Given the description of an element on the screen output the (x, y) to click on. 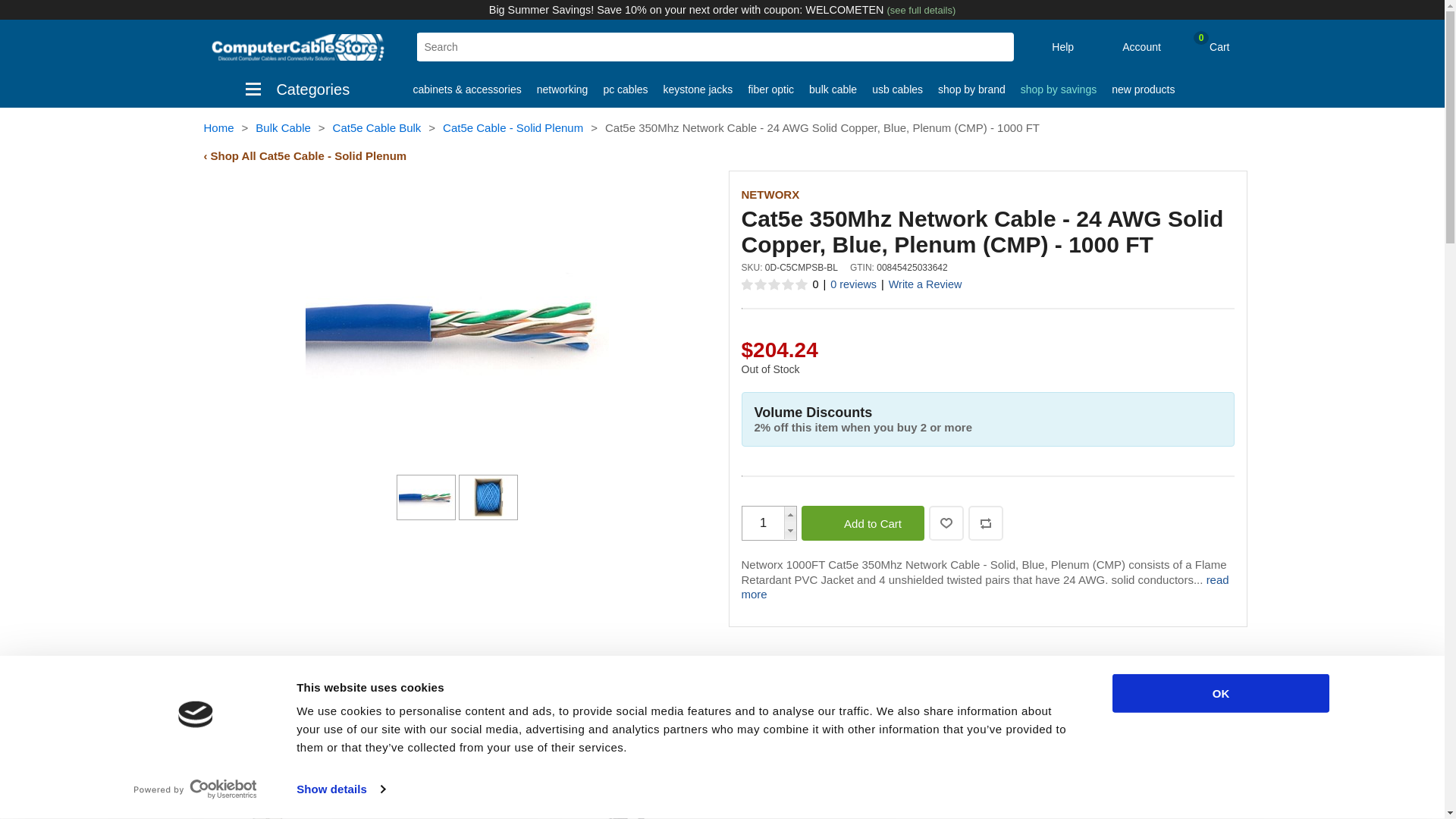
Show products in category USB Cables (897, 89)
1 (762, 523)
OK (1219, 693)
Search (995, 46)
Show products in category PC Cables (624, 89)
Show products in category Keystone Jacks (698, 89)
Computer Cable Store (298, 46)
Show products in category Networking (562, 89)
Show products in category Bulk Cable (833, 89)
Show details (340, 789)
